Given the description of an element on the screen output the (x, y) to click on. 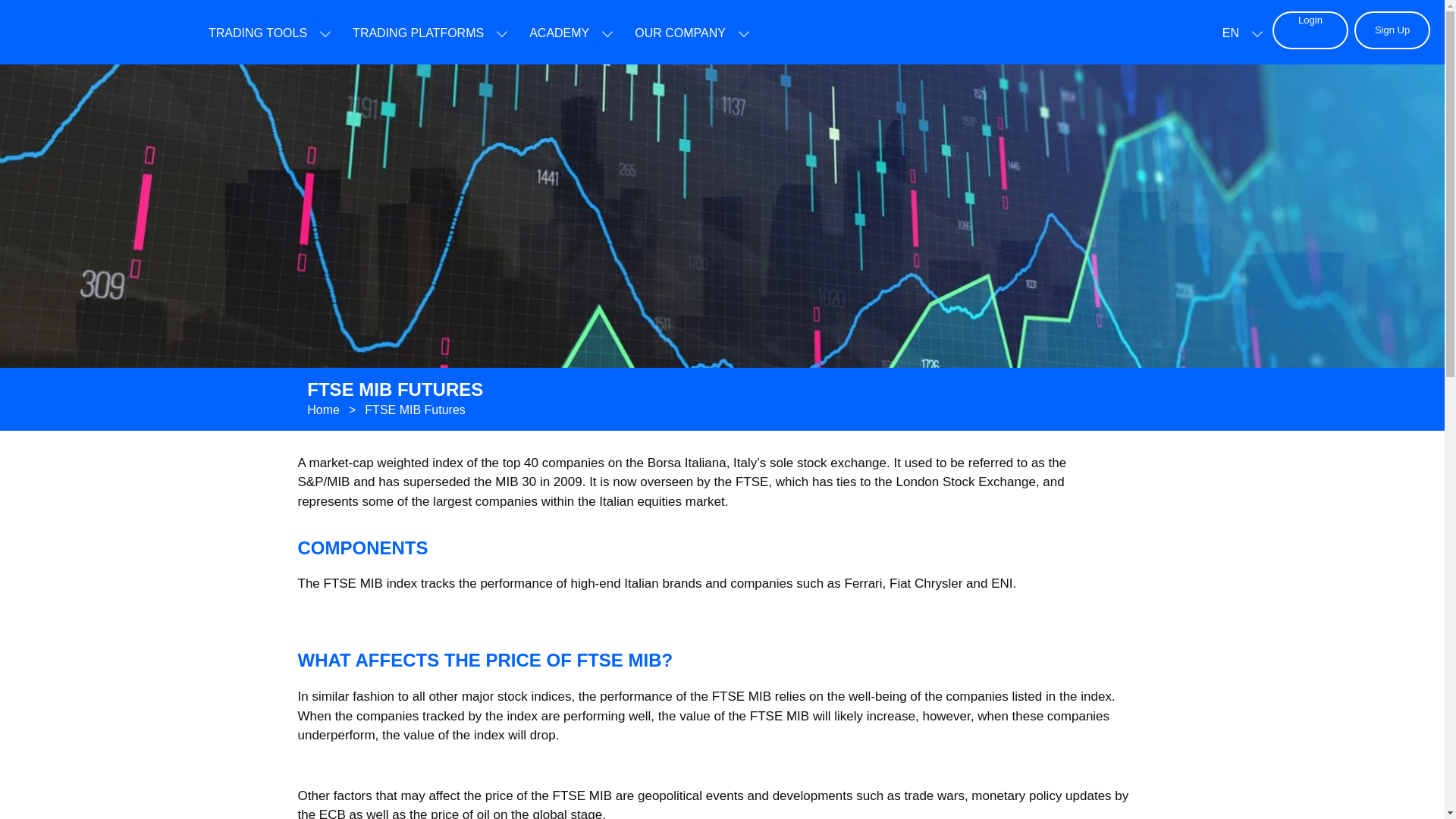
ACADEMY (559, 33)
TRADING TOOLS (257, 33)
TRADING PLATFORMS (417, 33)
OUR COMPANY (679, 33)
